Given the description of an element on the screen output the (x, y) to click on. 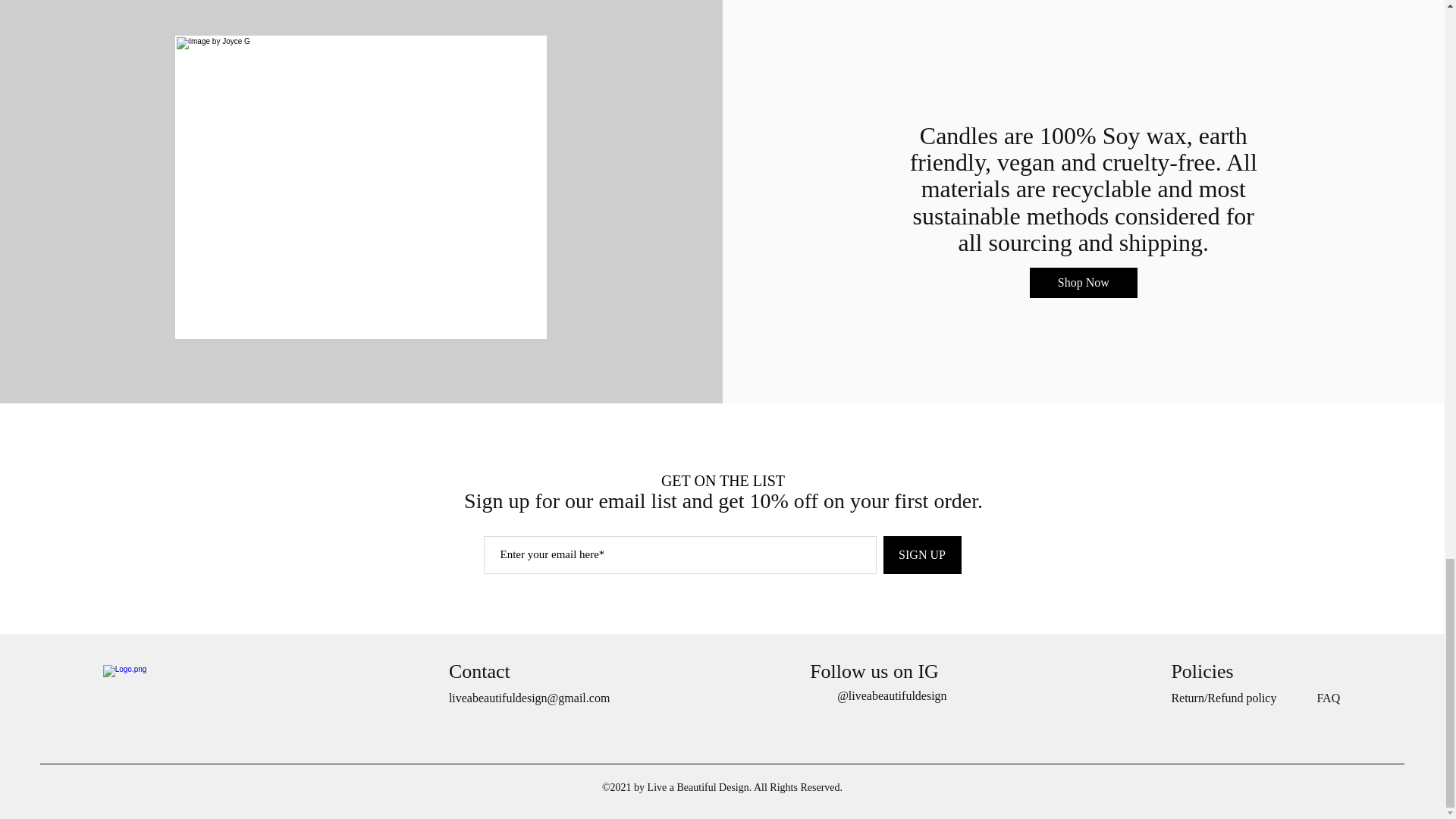
Shop Now (1083, 282)
FAQ (1327, 697)
SIGN UP (921, 555)
